Given the description of an element on the screen output the (x, y) to click on. 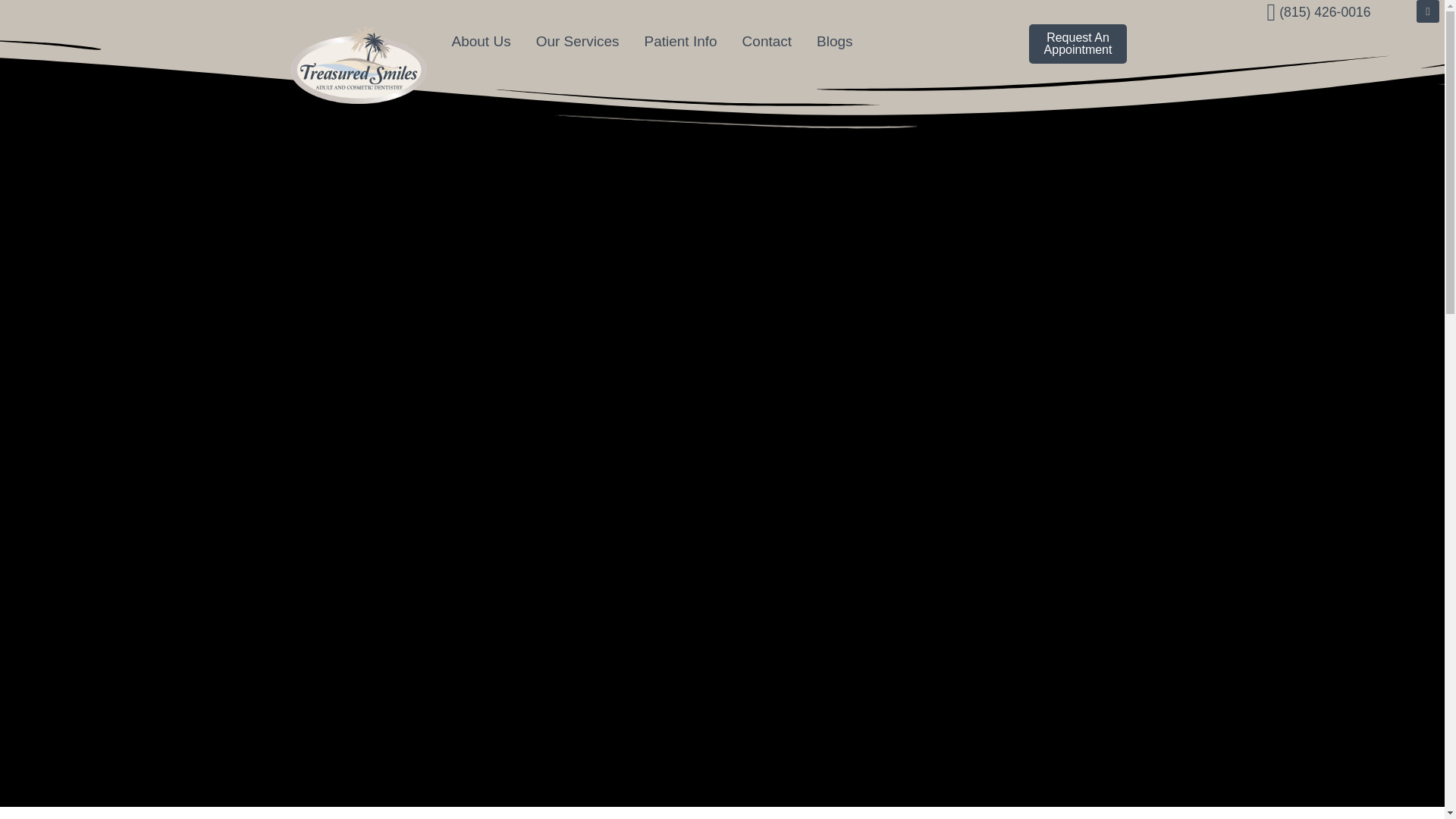
Blogs (834, 41)
About Us (480, 41)
Patient Info (680, 41)
Contact (766, 41)
Our Services (577, 41)
